Given the description of an element on the screen output the (x, y) to click on. 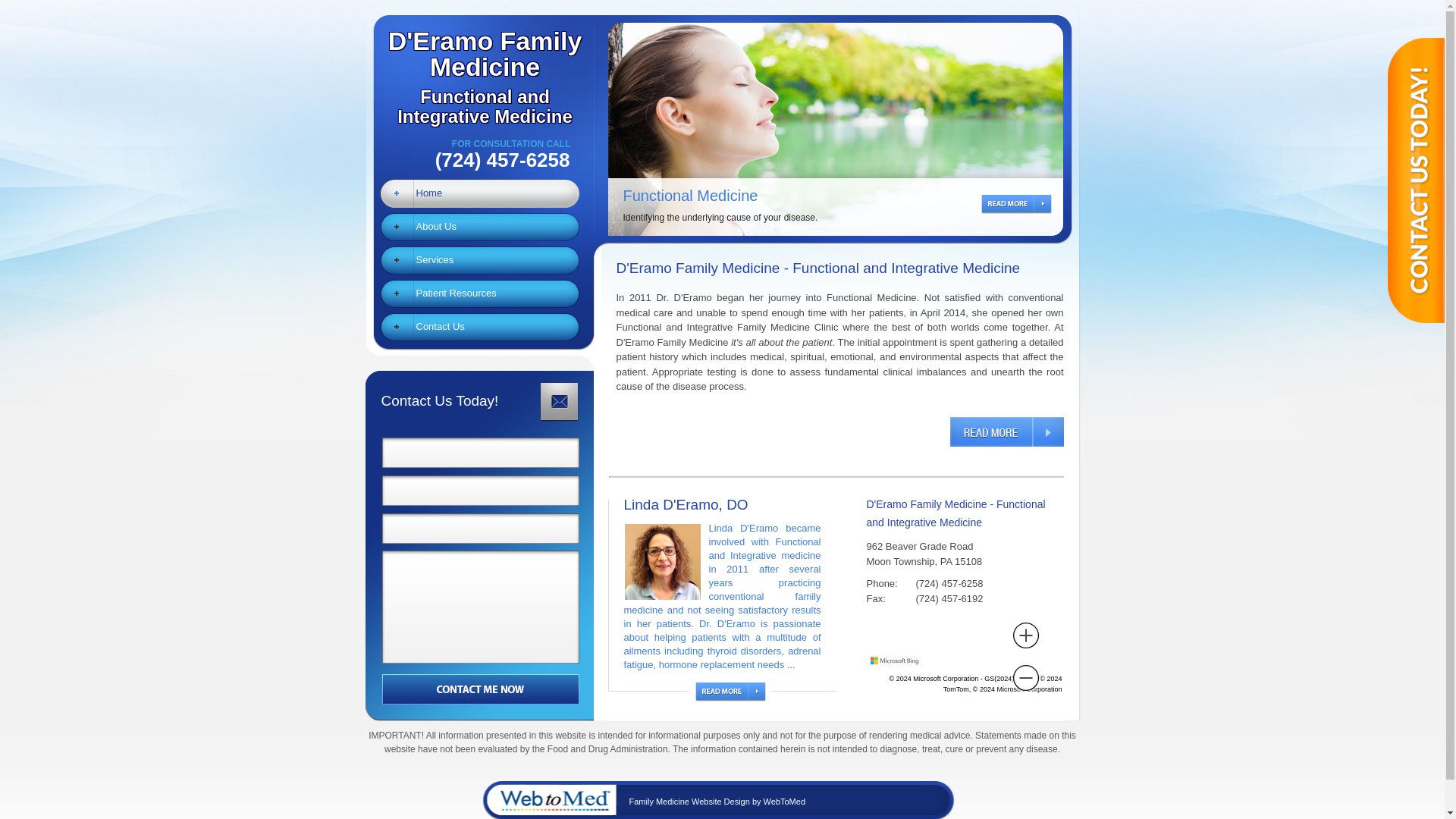
read more (730, 692)
read more (1005, 431)
Patient Resources (480, 292)
Home (480, 192)
Services (478, 63)
read more (480, 260)
Patient Resources (1011, 205)
About Us (480, 292)
Submit Message (480, 226)
Contact Us (480, 688)
Submit Message (480, 326)
About Us (480, 688)
Services (480, 226)
Home (480, 260)
